Given the description of an element on the screen output the (x, y) to click on. 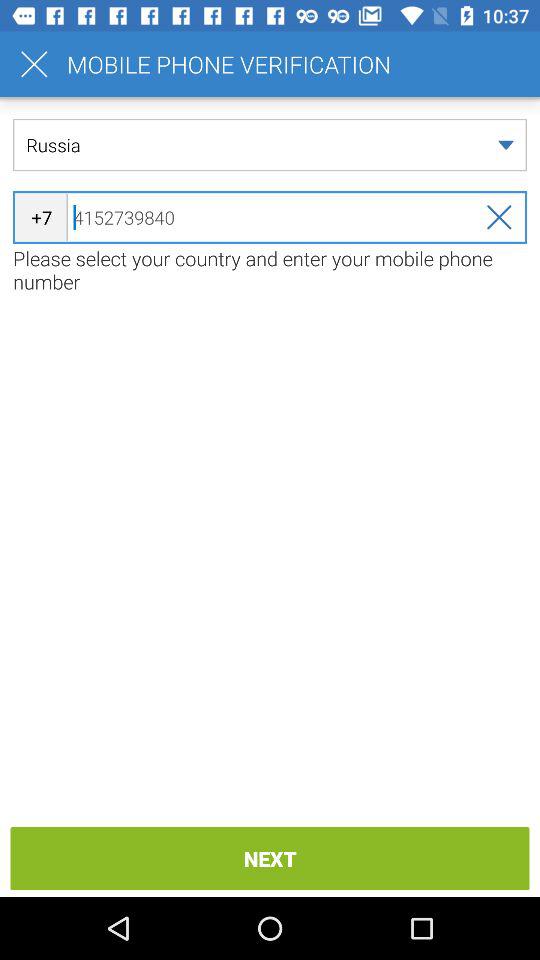
tap item above 4152739840 icon (269, 144)
